Given the description of an element on the screen output the (x, y) to click on. 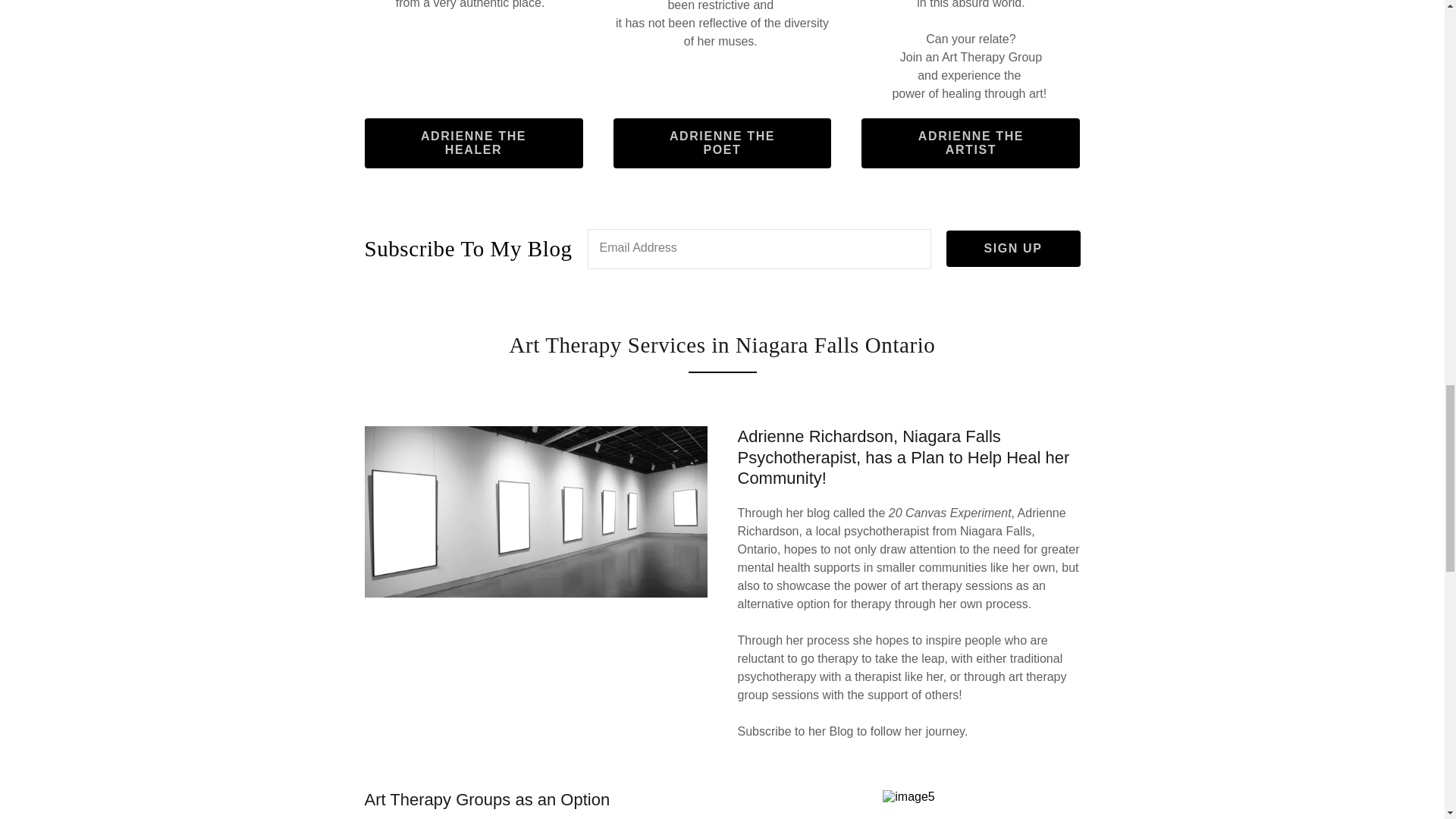
ADRIENNE THE ARTIST (970, 142)
SIGN UP (1013, 248)
ADRIENNE THE HEALER (474, 142)
ADRIENNE THE POET (721, 142)
